Given the description of an element on the screen output the (x, y) to click on. 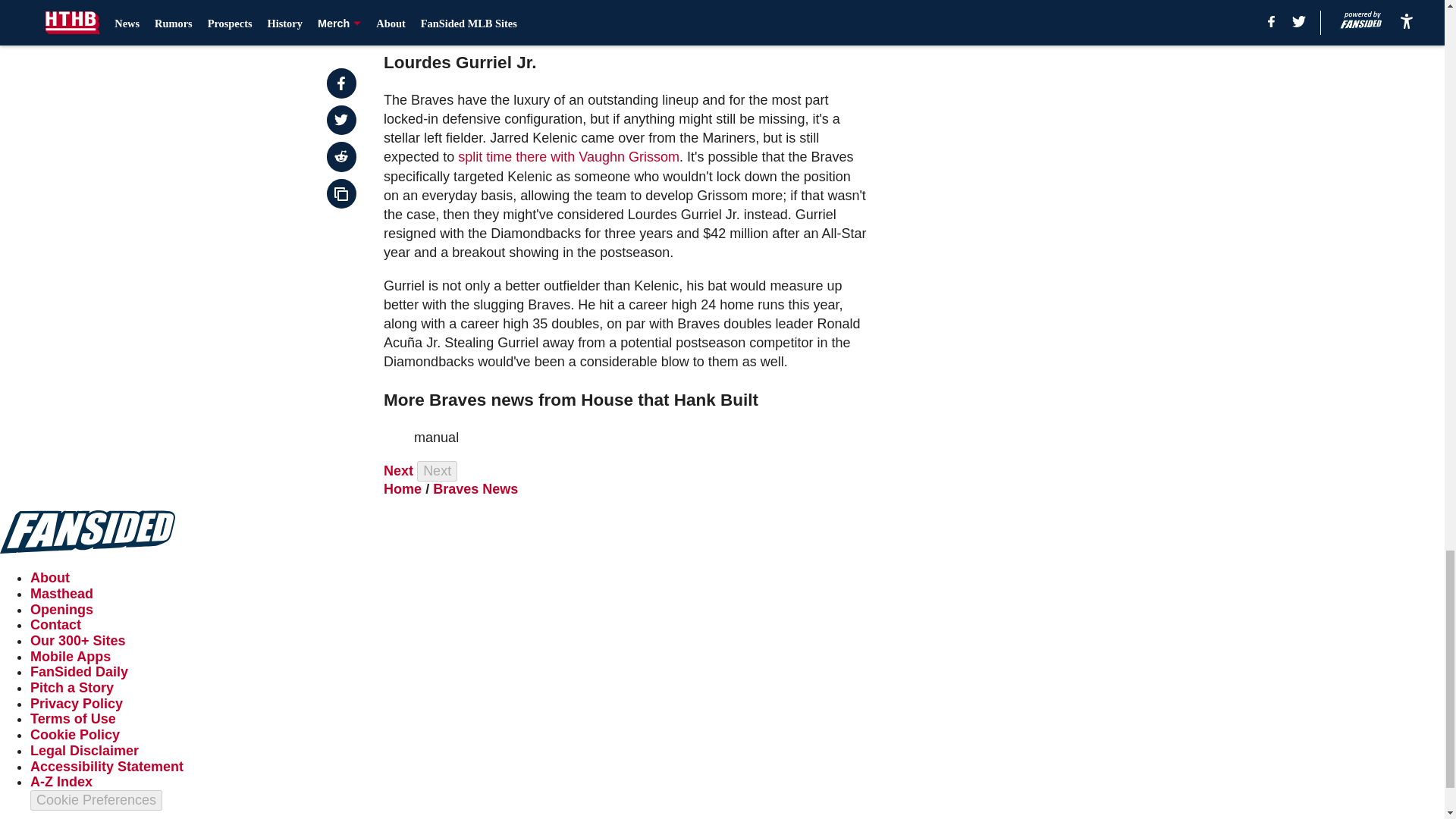
split time there with Vaughn Grissom (568, 156)
Home (403, 488)
Next (436, 471)
Braves News (475, 488)
Next (398, 470)
